Given the description of an element on the screen output the (x, y) to click on. 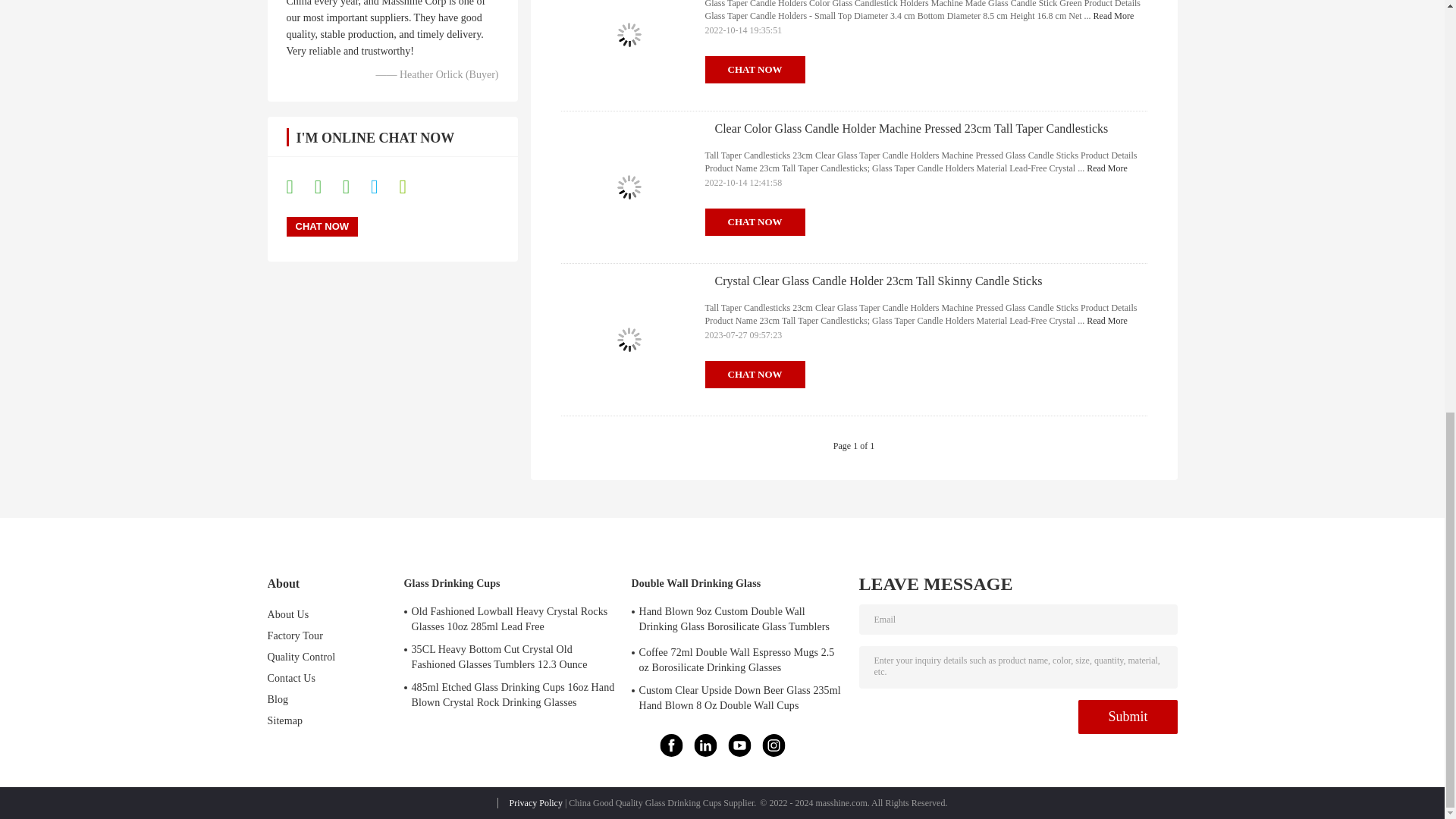
Chat Now (322, 226)
Submit (1127, 716)
